Given the description of an element on the screen output the (x, y) to click on. 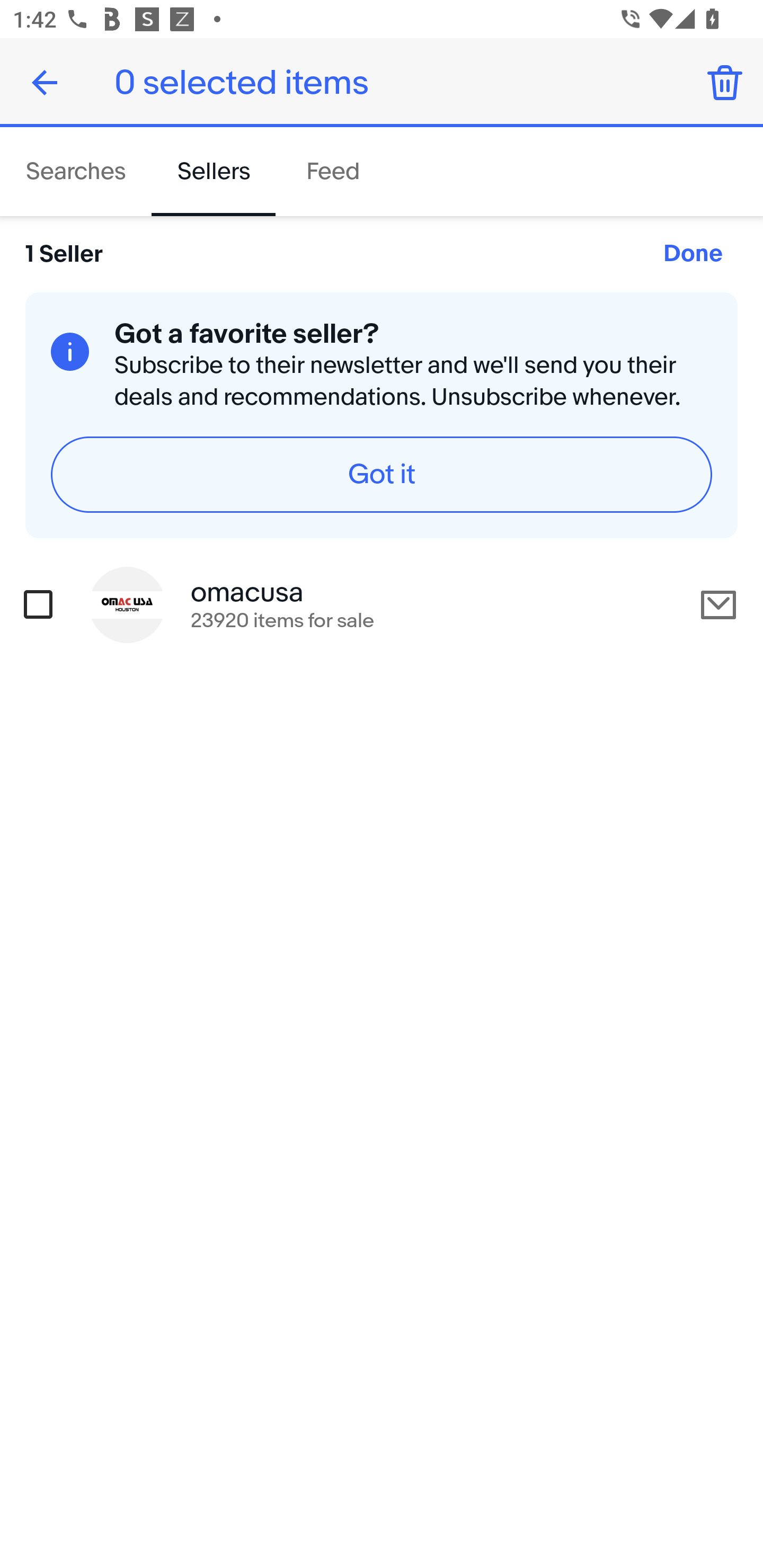
Done (44, 81)
Delete (724, 81)
Searches (75, 171)
Feed (332, 171)
Done (693, 253)
Got it (381, 473)
Subscribe, omacusa (718, 604)
